Given the description of an element on the screen output the (x, y) to click on. 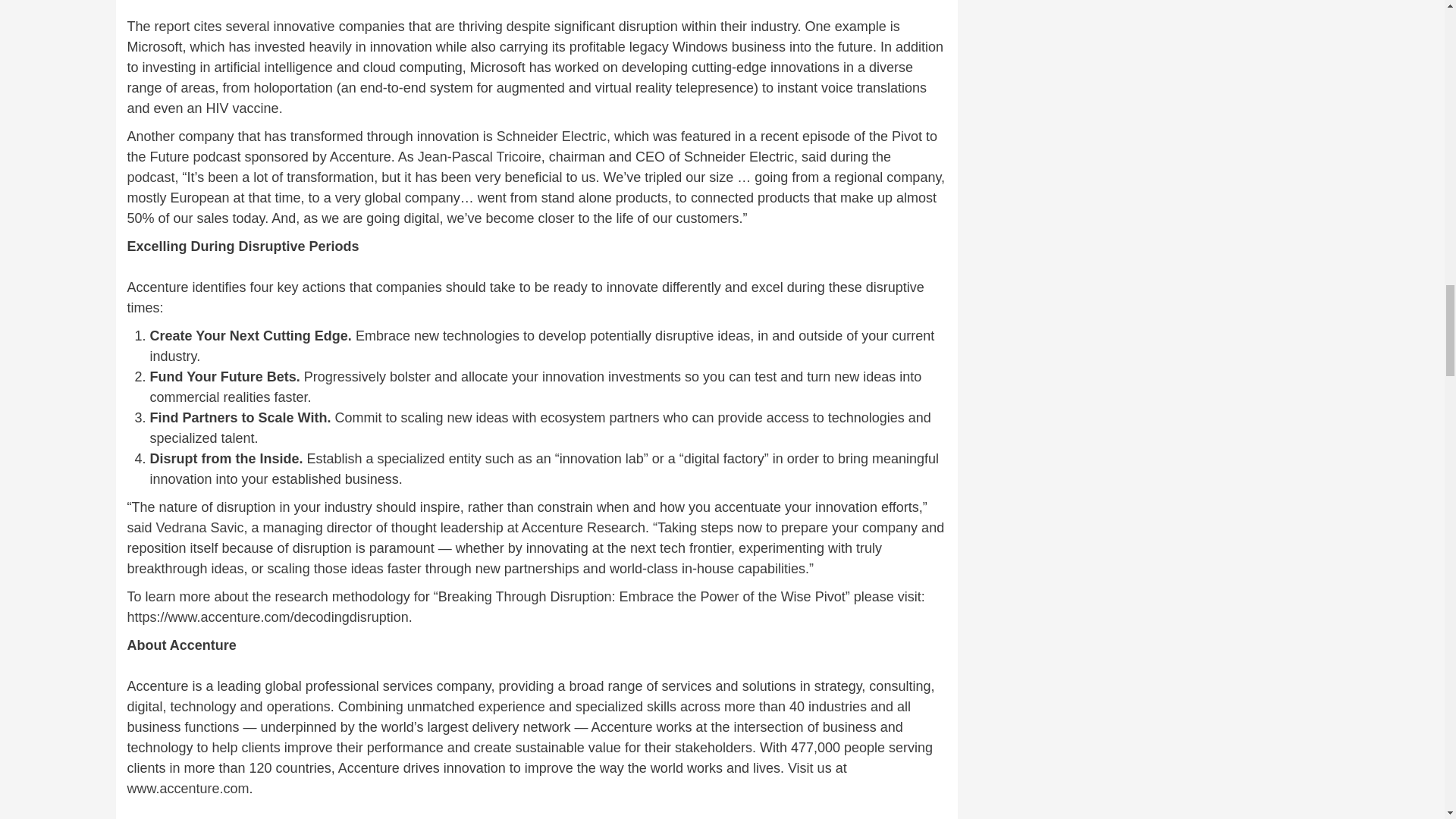
podcast (151, 177)
www.accenture.com (188, 788)
Schneider Electric (551, 136)
Vedrana Savic (199, 527)
Jean-Pascal Tricoire (479, 156)
